Given the description of an element on the screen output the (x, y) to click on. 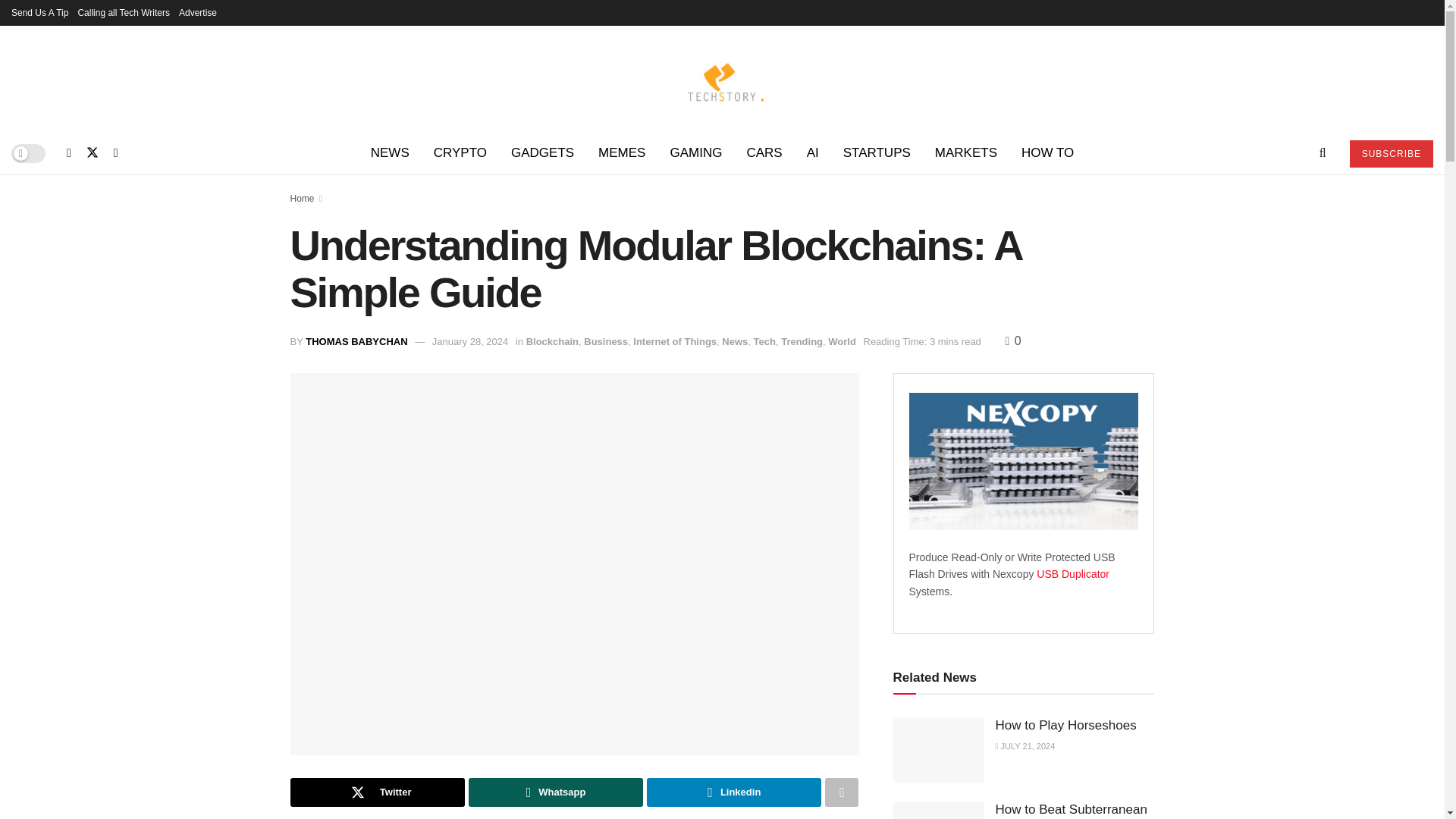
Advertise (197, 12)
USB duplicator (1072, 573)
GADGETS (542, 152)
MARKETS (966, 152)
SUBSCRIBE (1390, 153)
HOW TO (1047, 152)
Home (301, 198)
MEMES (622, 152)
CRYPTO (460, 152)
GAMING (695, 152)
THOMAS BABYCHAN (356, 341)
Send Us A Tip (39, 12)
Calling all Tech Writers (123, 12)
NEWS (390, 152)
STARTUPS (877, 152)
